Given the description of an element on the screen output the (x, y) to click on. 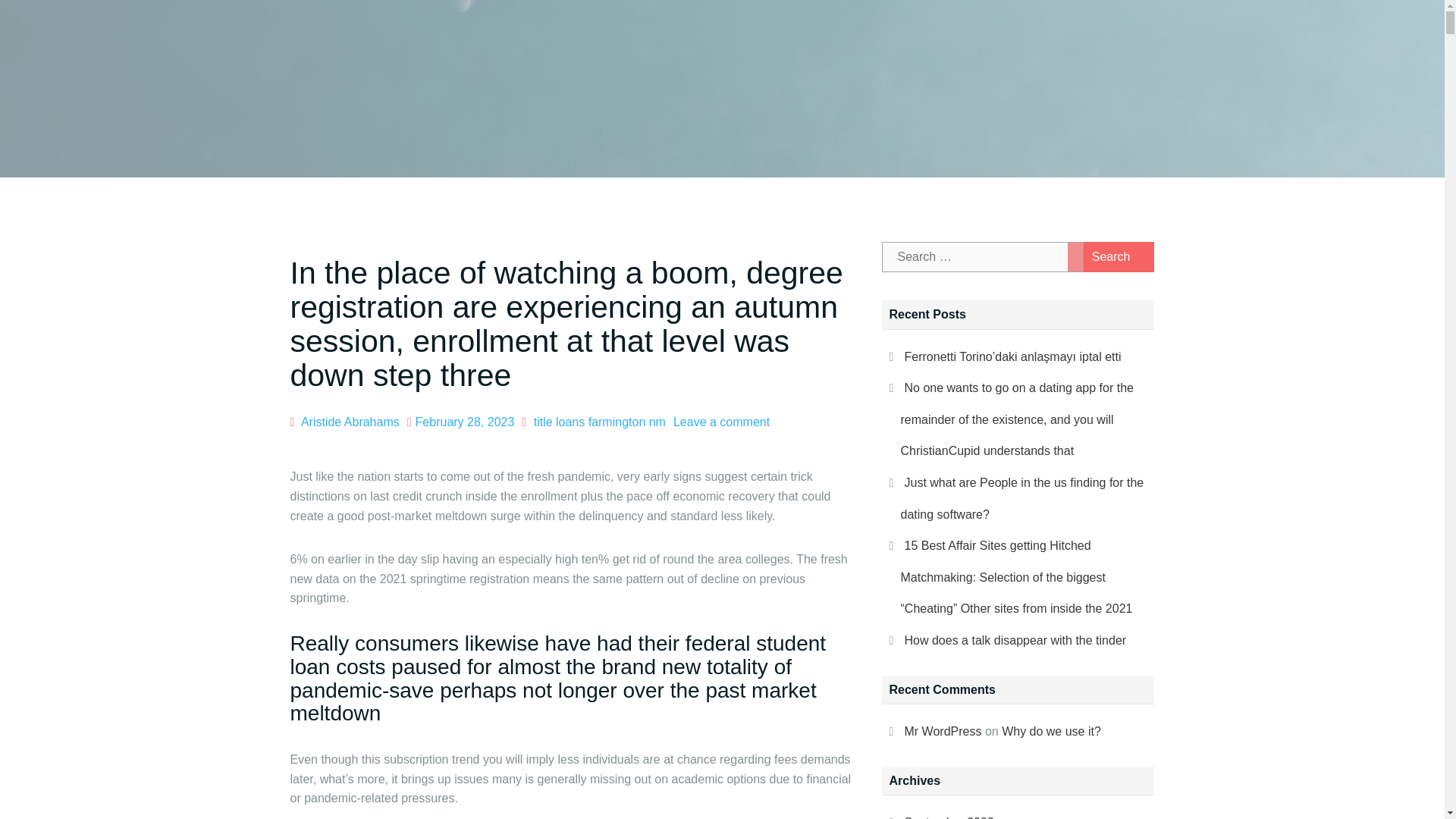
February 28, 2023 (464, 421)
How does a talk disappear with the tinder (1014, 640)
September 2023 (948, 817)
Mr WordPress (942, 730)
Search (1110, 256)
Why do we use it? (1050, 730)
Aristide Abrahams (349, 421)
title loans farmington nm (599, 421)
